Given the description of an element on the screen output the (x, y) to click on. 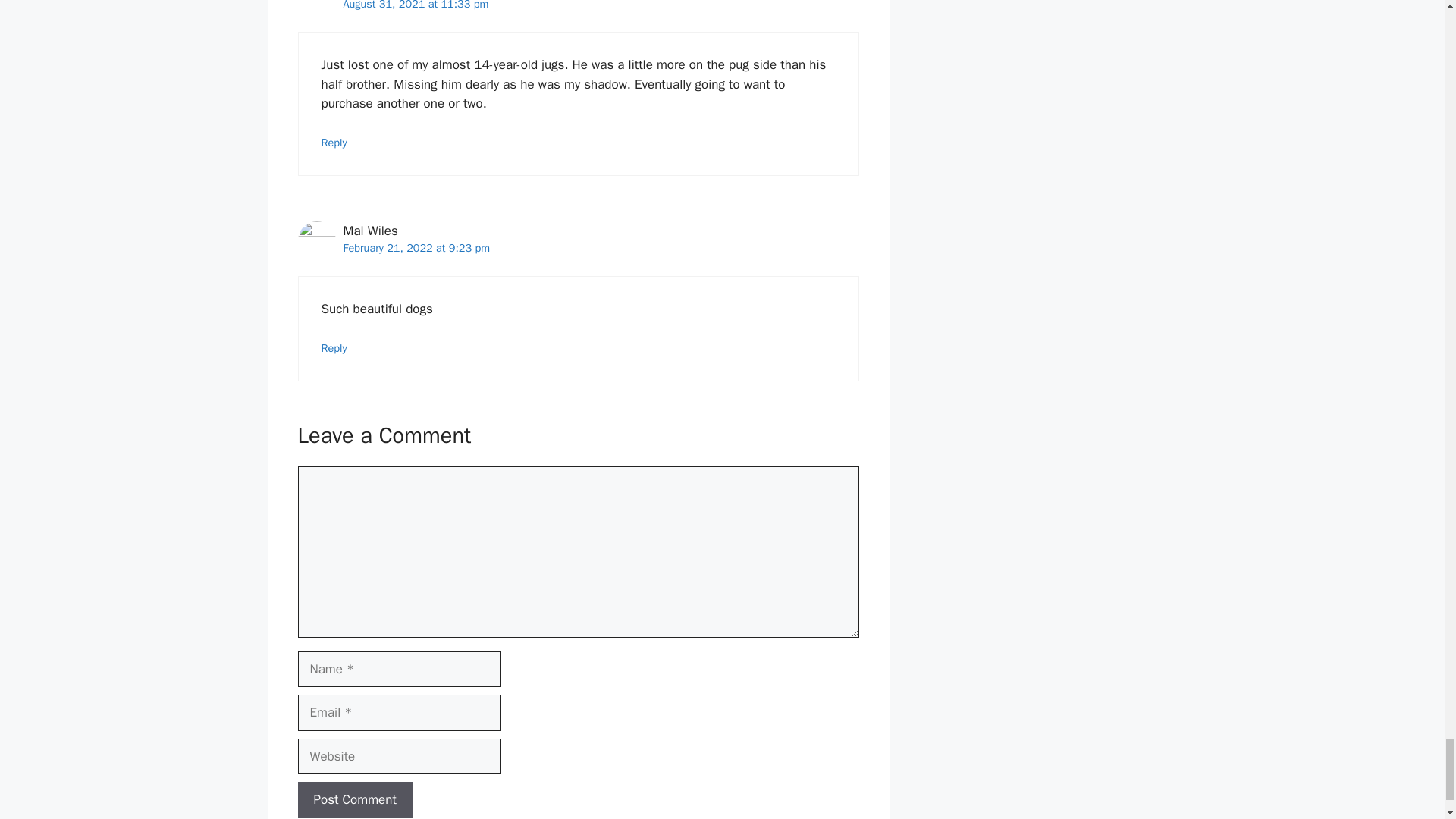
August 31, 2021 at 11:33 pm (414, 5)
February 21, 2022 at 9:23 pm (415, 247)
Post Comment (354, 800)
Reply (334, 142)
Reply (334, 347)
